Given the description of an element on the screen output the (x, y) to click on. 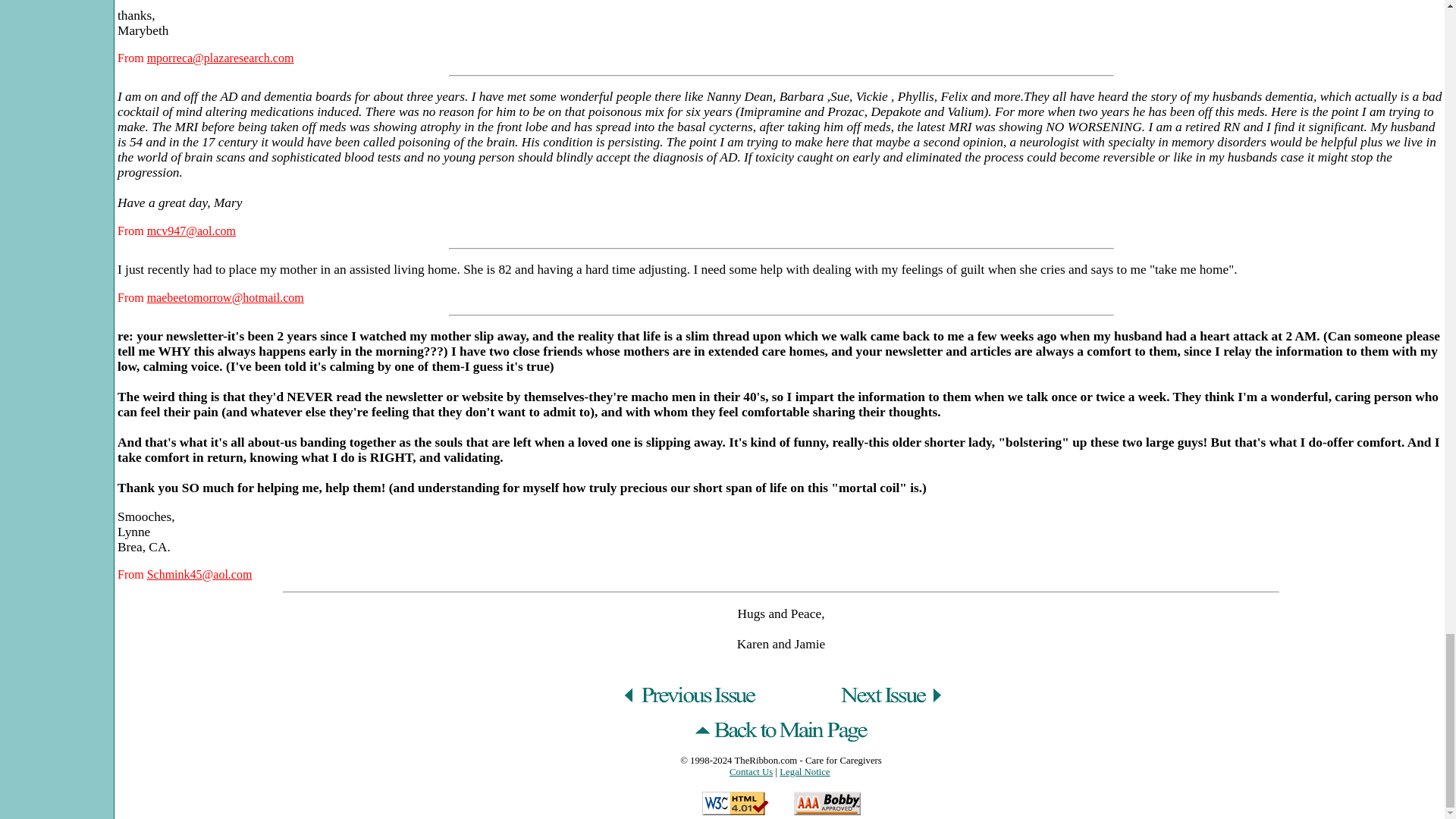
Send Email to Mary (191, 230)
Send Email to MaryBeth (220, 57)
Send Email to Lynne (199, 574)
